Given the description of an element on the screen output the (x, y) to click on. 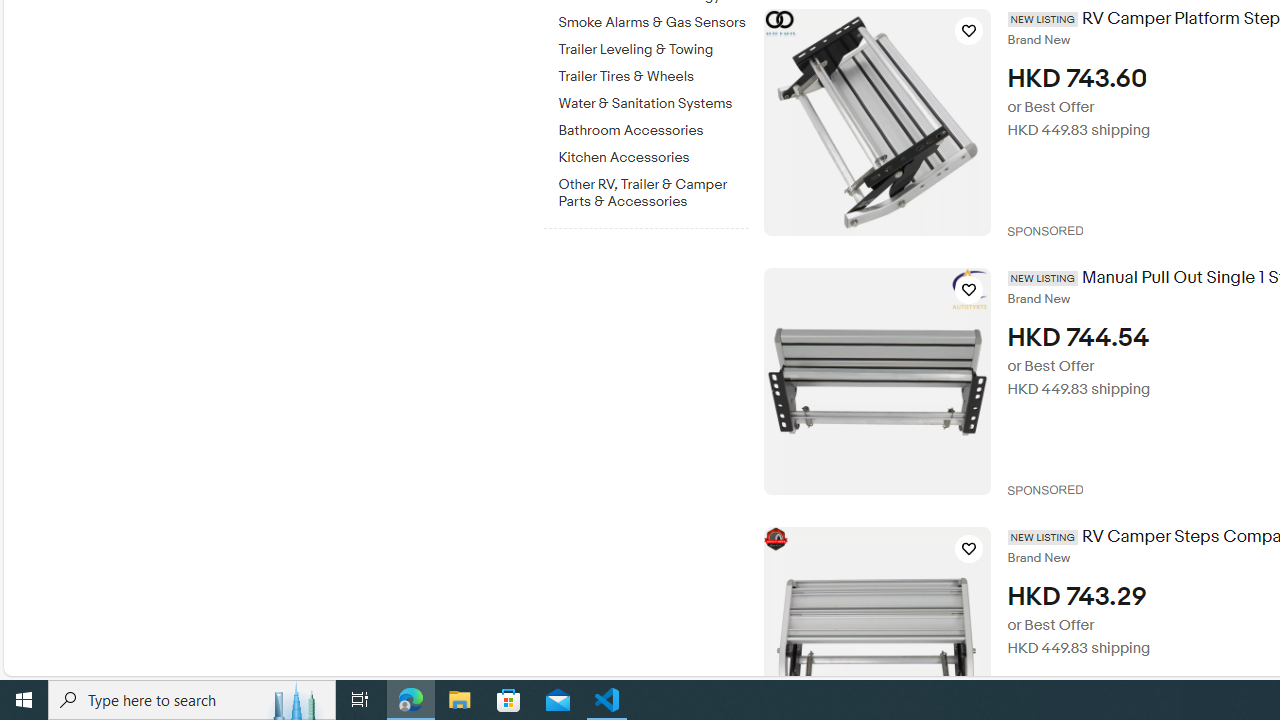
Water & Sanitation Systems (653, 100)
Trailer Leveling & Towing (653, 50)
